Given the description of an element on the screen output the (x, y) to click on. 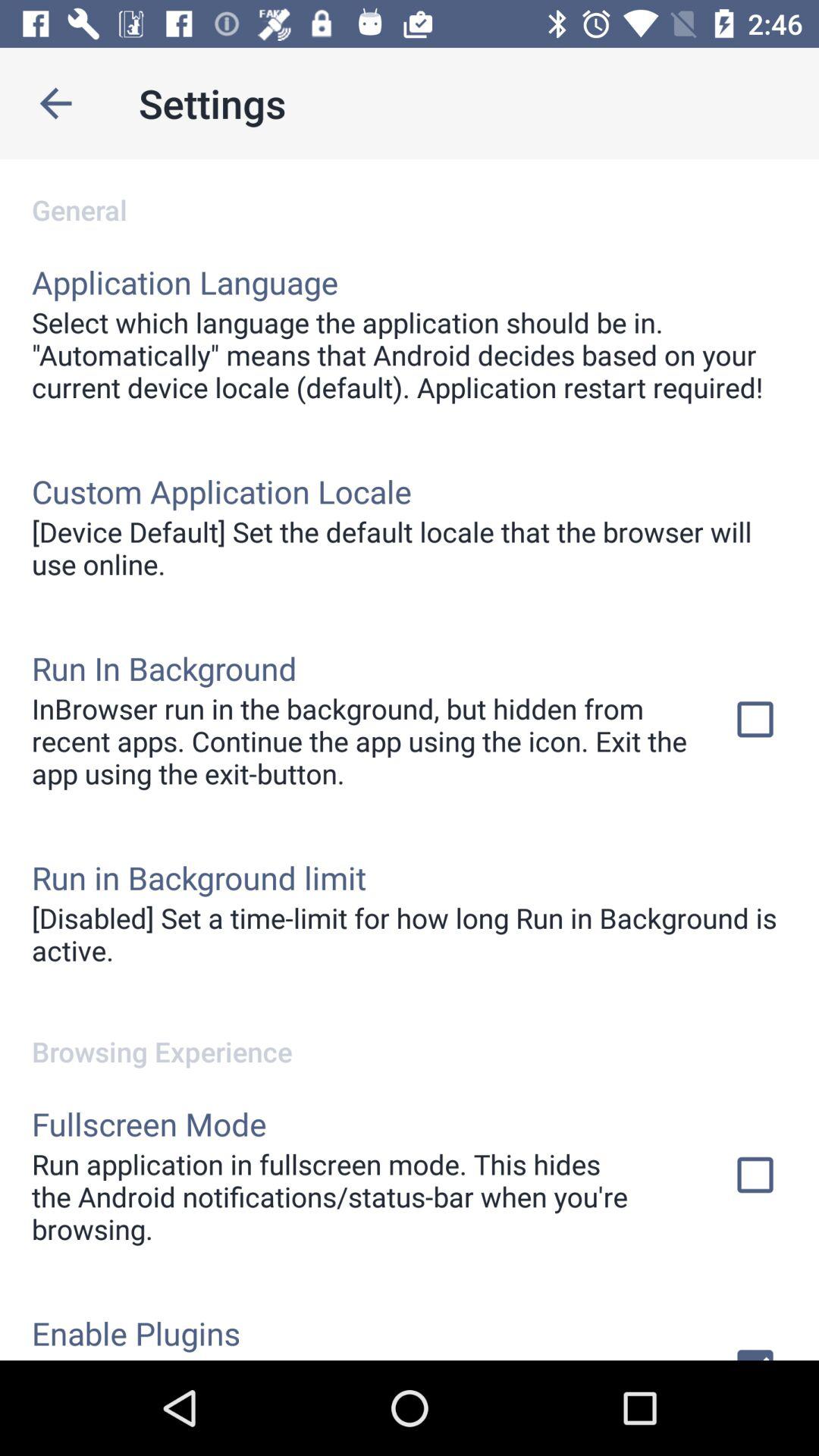
choose the item below the disabled set a app (409, 1035)
